Given the description of an element on the screen output the (x, y) to click on. 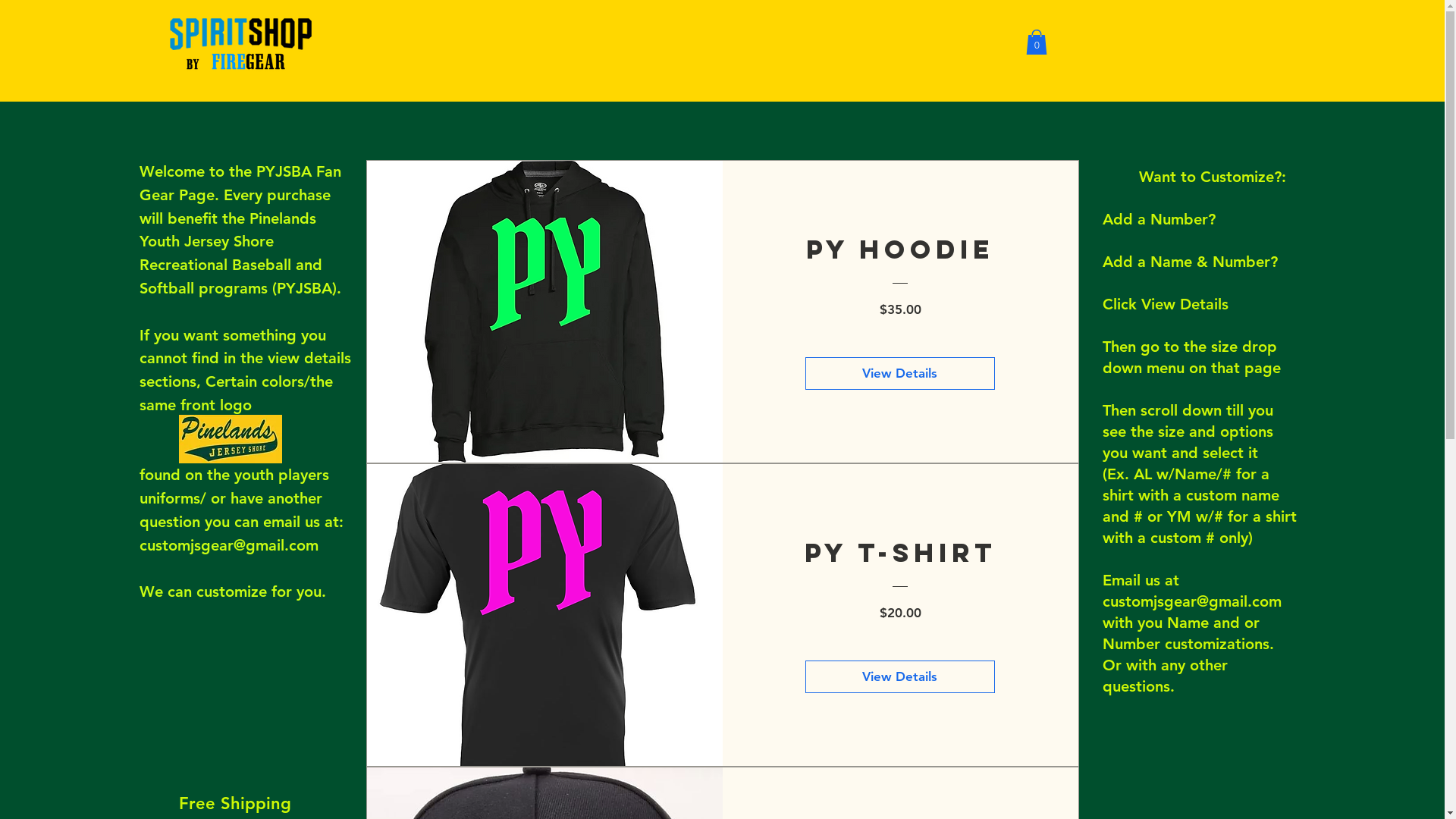
0 Element type: text (1035, 41)
customjsgear@gmail.com Element type: text (228, 545)
View Details Element type: text (899, 373)
PY T-shirt
$20.00
Price
View Details Element type: text (722, 614)
View Details Element type: text (899, 676)
PY Hoodie
$35.00
Price
View Details Element type: text (722, 311)
